Given the description of an element on the screen output the (x, y) to click on. 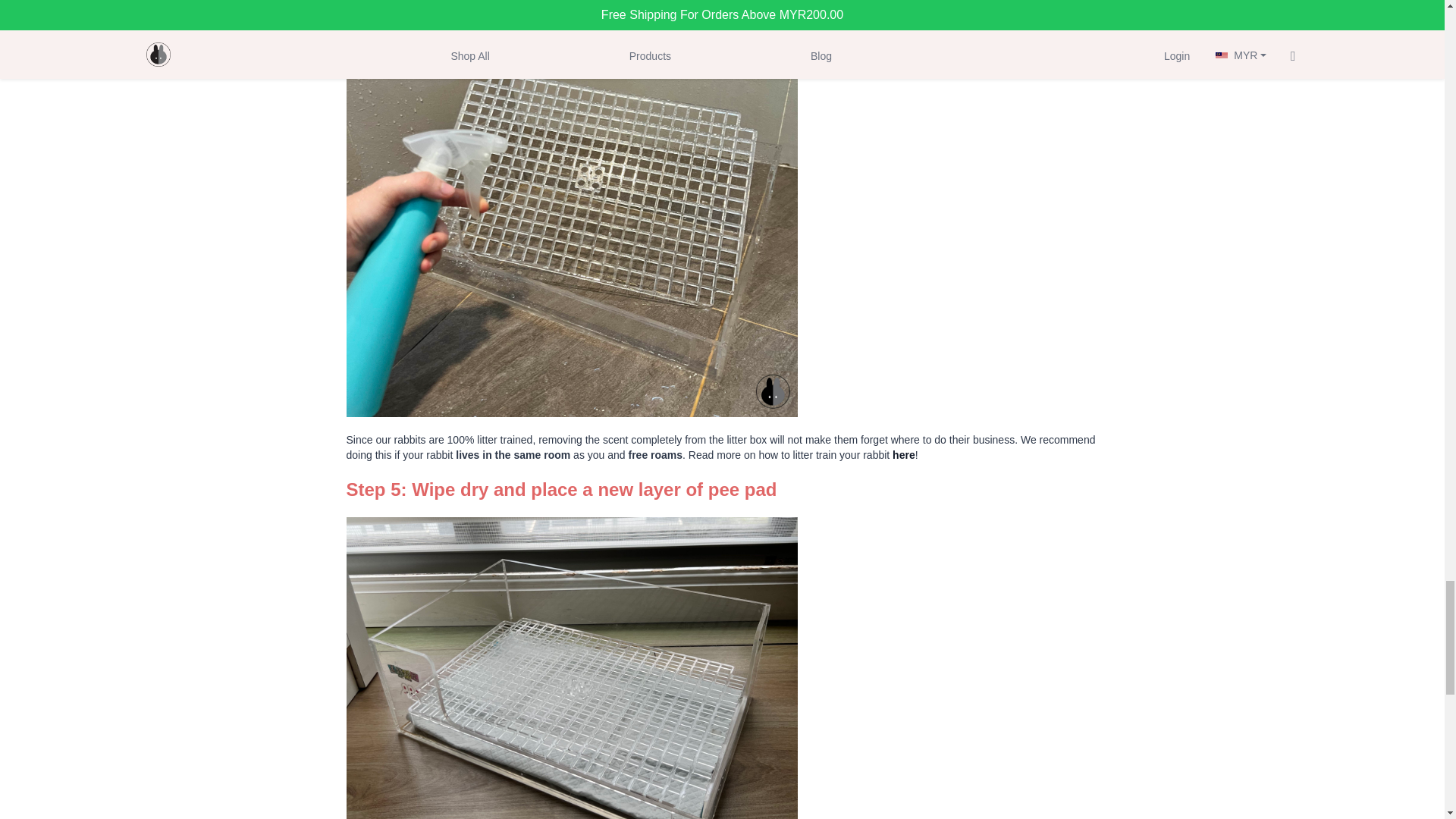
here (903, 454)
